Given the description of an element on the screen output the (x, y) to click on. 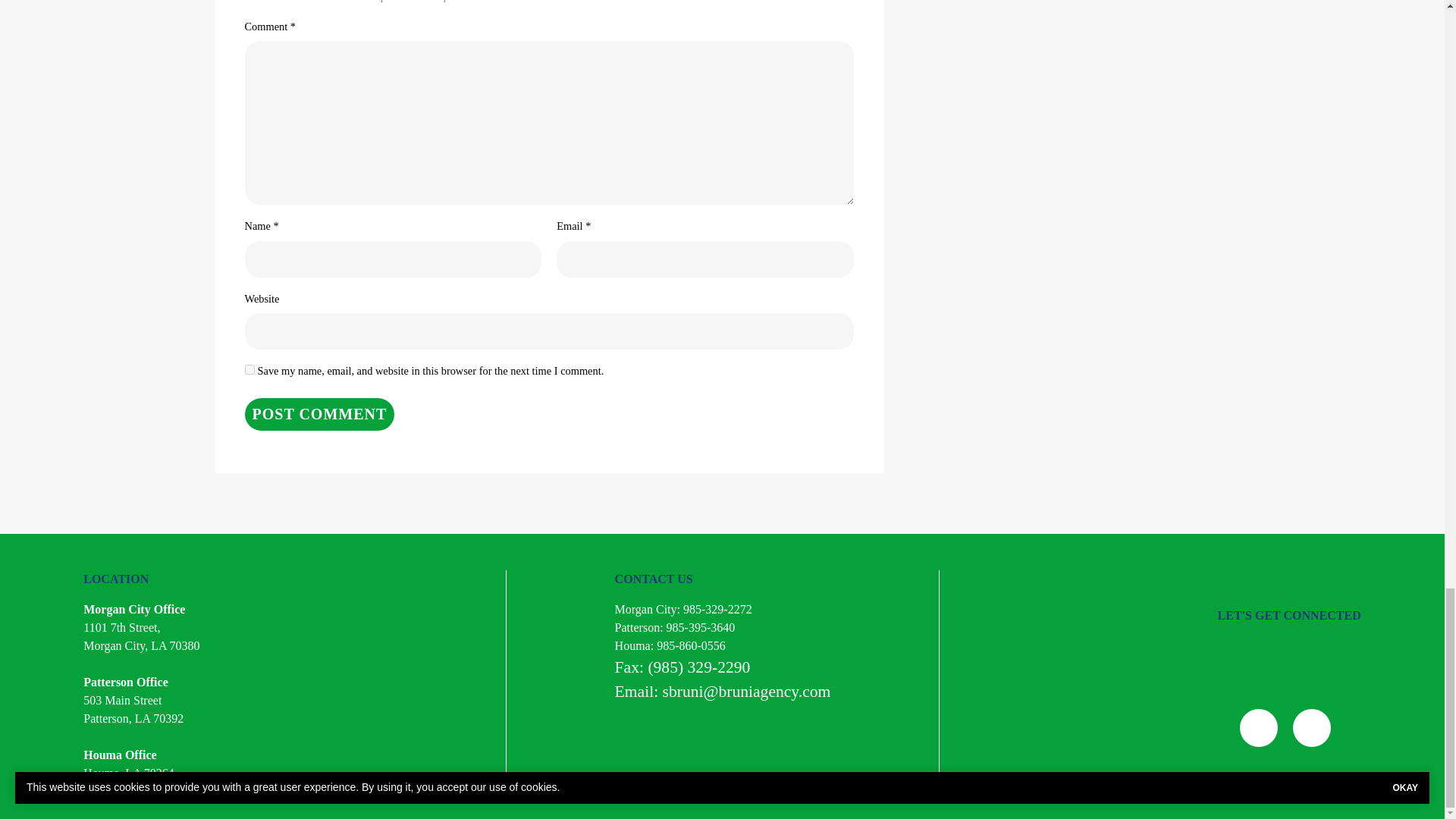
yes (248, 369)
Post Comment (319, 414)
